Given the description of an element on the screen output the (x, y) to click on. 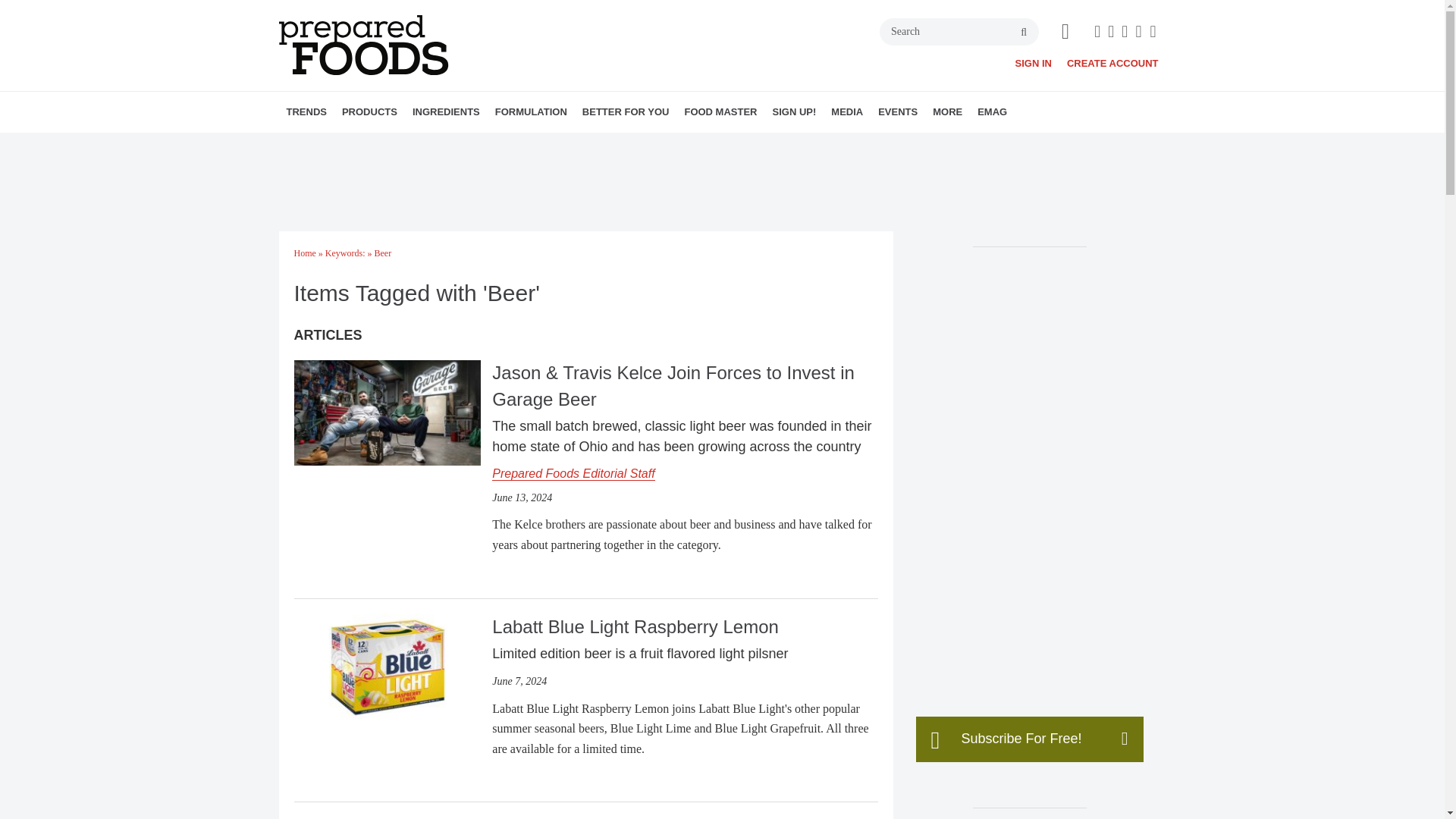
Labatt Blue Raspberry Lemon package (387, 666)
CANDY (448, 145)
BEVERAGES (436, 145)
FLAVORS, SEASONINGS, SPICES (522, 145)
PRODUCTS (369, 111)
COLORINGS (506, 145)
CANNABIS (452, 145)
BAKERY (429, 145)
SIGN IN (1032, 62)
